Given the description of an element on the screen output the (x, y) to click on. 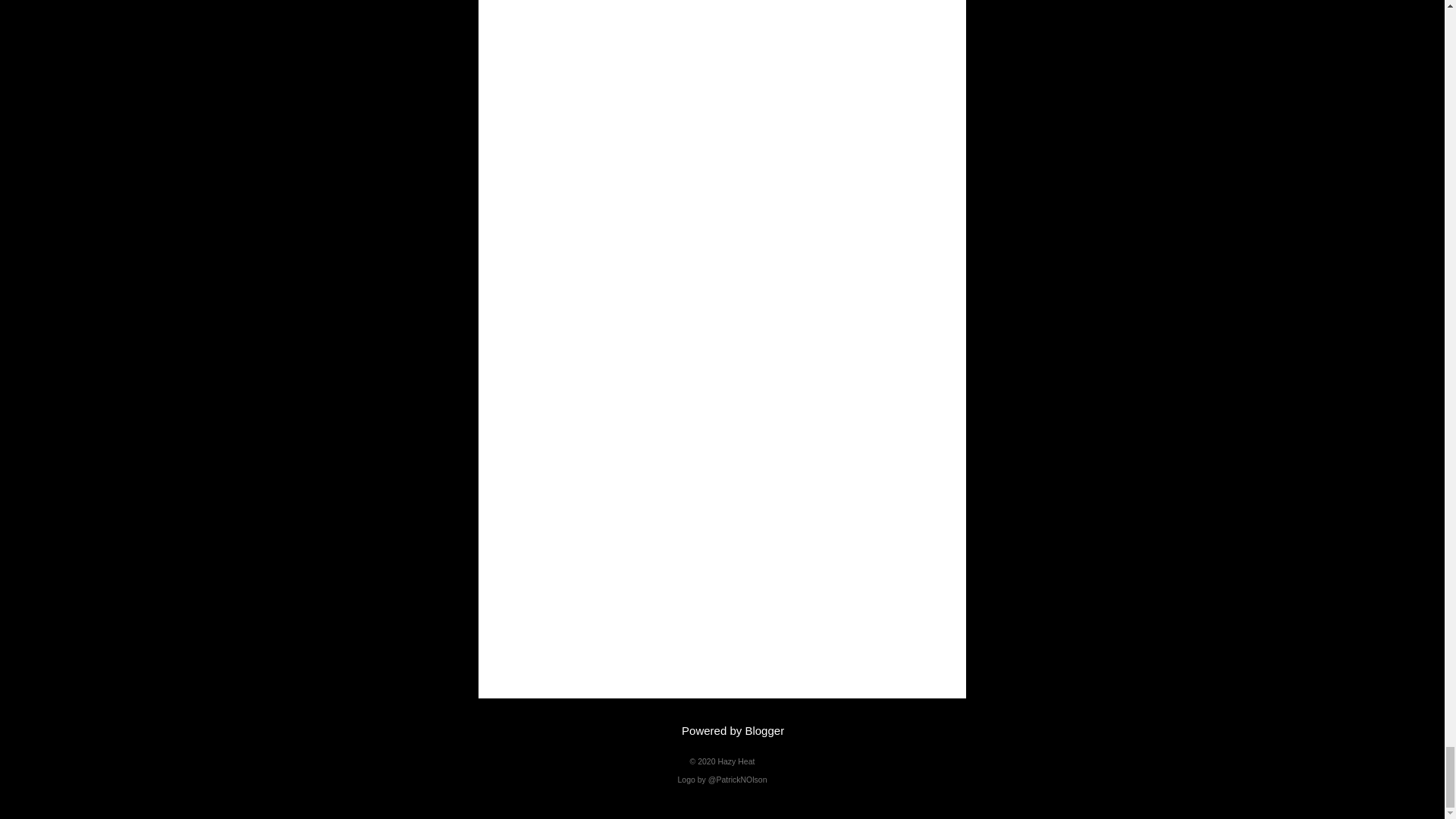
Powered by Blogger (722, 730)
